Given the description of an element on the screen output the (x, y) to click on. 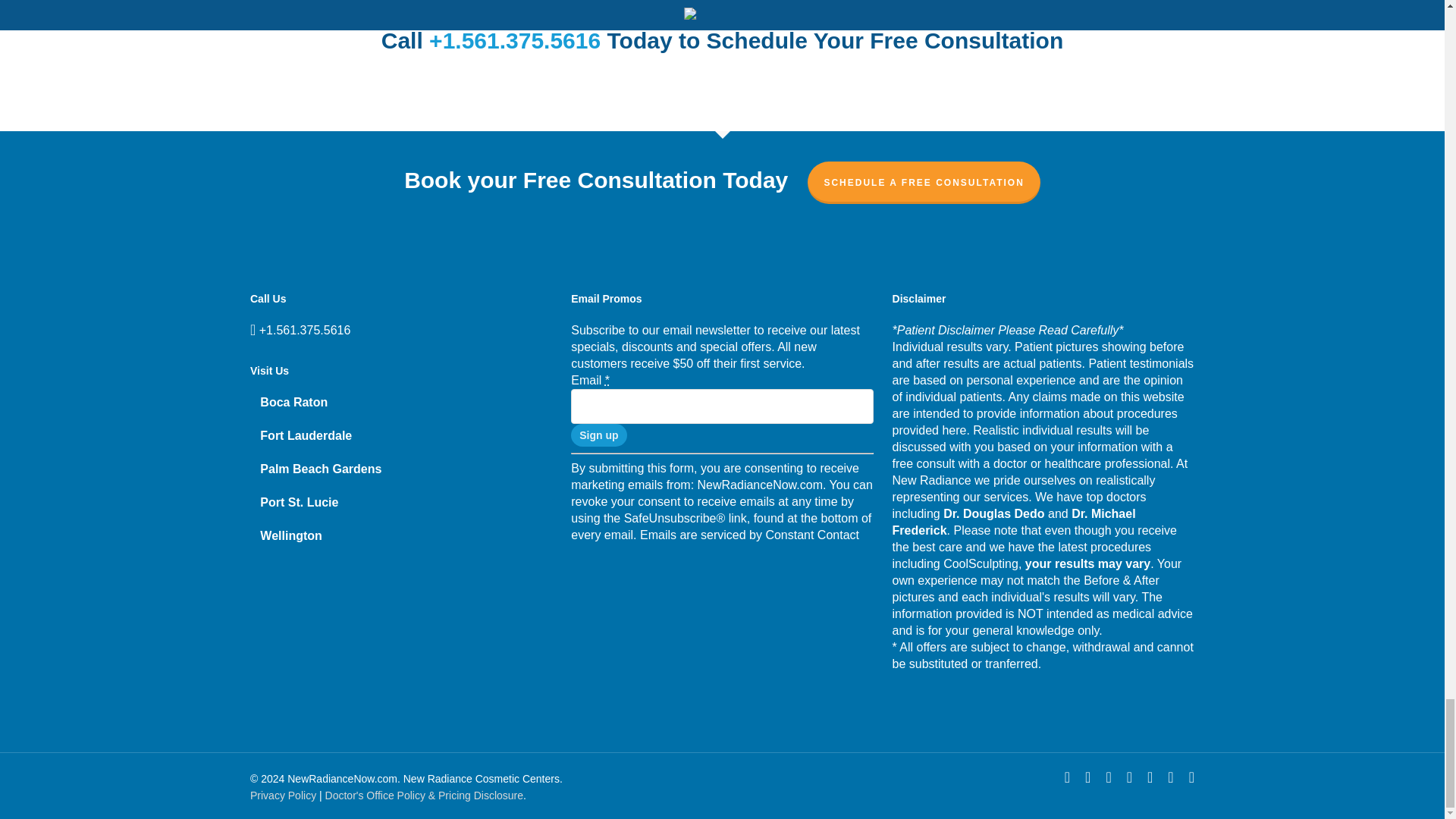
Dr. Michael Frederick (1013, 521)
Sign up (598, 435)
Dr. Douglas Dedo (993, 513)
